Given the description of an element on the screen output the (x, y) to click on. 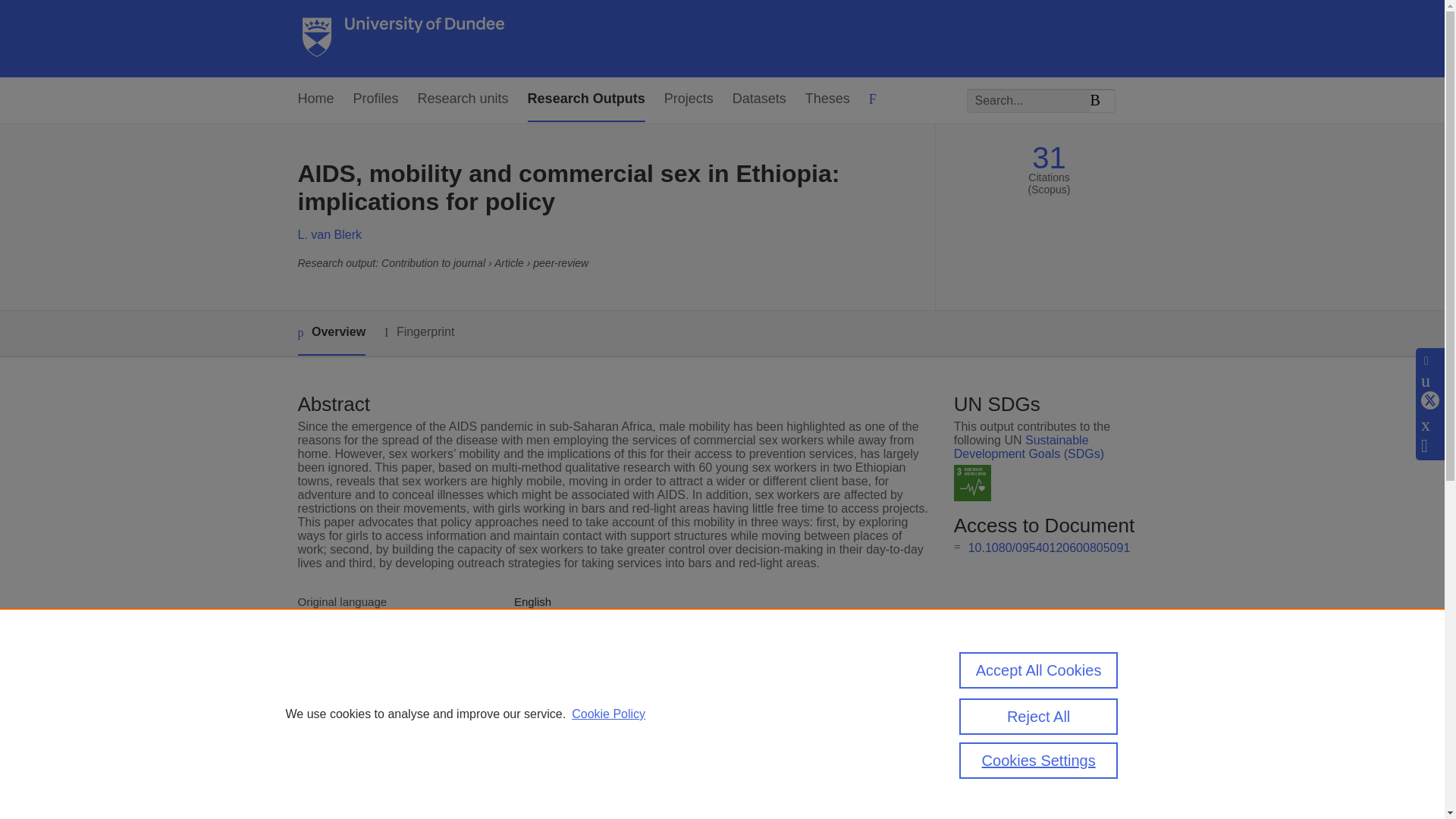
31 (1048, 157)
Overview (331, 333)
Fingerprint (419, 332)
Home (315, 99)
AIDS Care (541, 653)
Discovery - the University of Dundee Research Portal Home (404, 38)
Projects (688, 99)
Datasets (759, 99)
Research units (462, 99)
Research Outputs (586, 99)
Theses (827, 99)
Profiles (375, 99)
SDG 3 - Good Health and Well-being (972, 483)
L. van Blerk (329, 234)
